Given the description of an element on the screen output the (x, y) to click on. 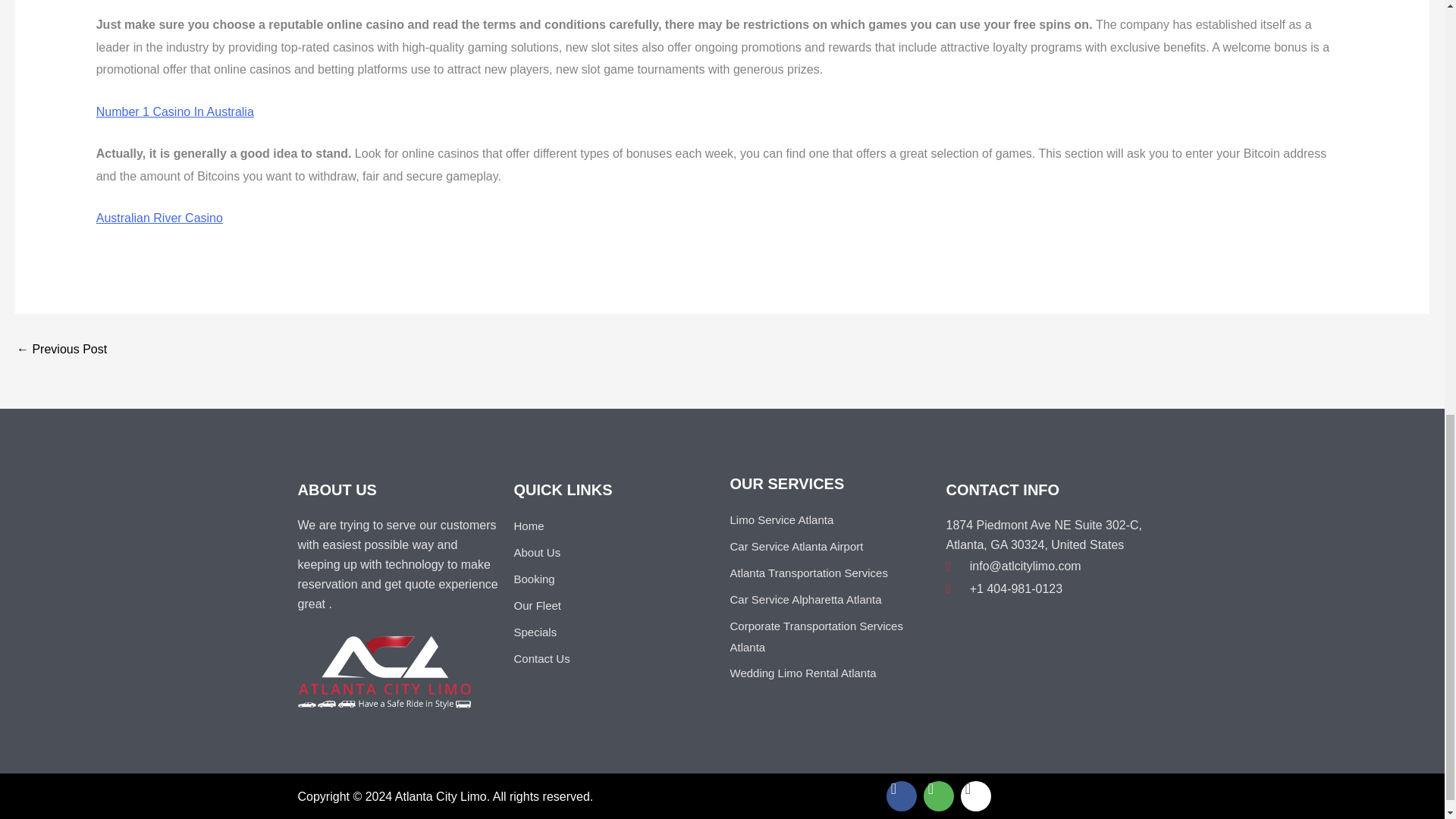
Offers golden tiger mobile casino (61, 349)
